Given the description of an element on the screen output the (x, y) to click on. 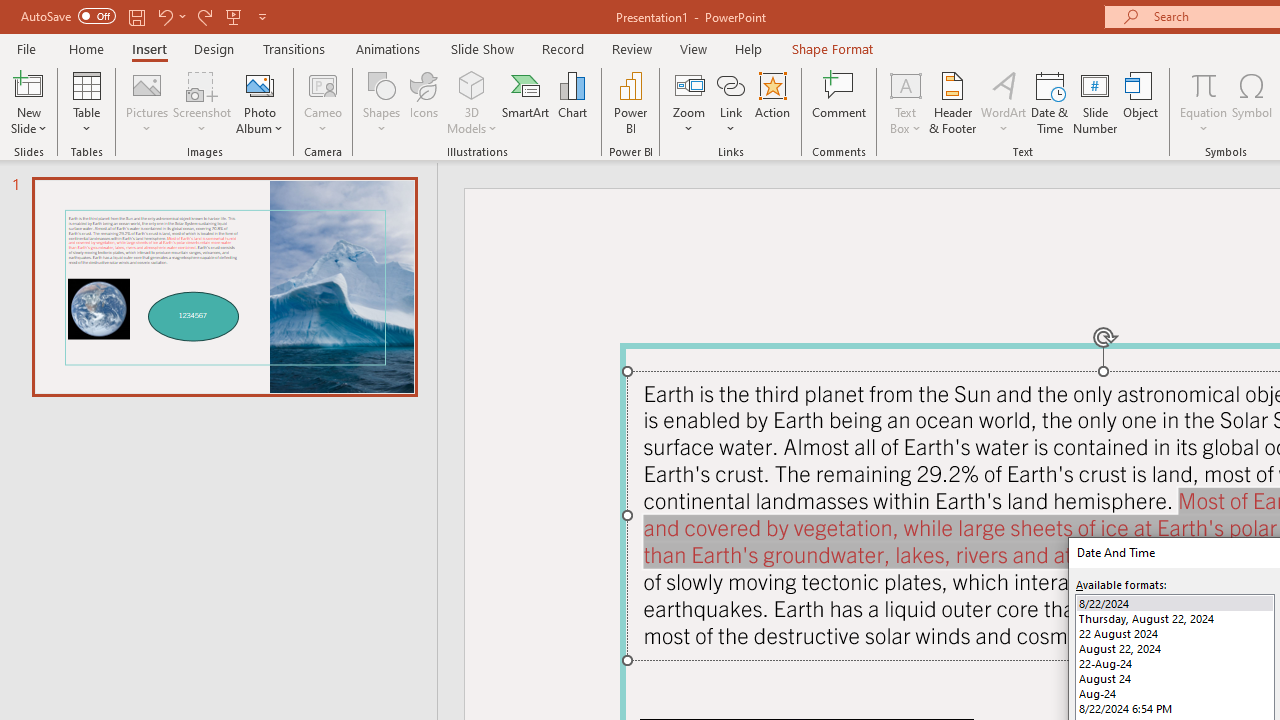
Equation (1203, 102)
3D Models (472, 84)
Comment (839, 102)
Link (731, 84)
Draw Horizontal Text Box (905, 84)
8/22/2024 (1174, 603)
Slide Number (1095, 102)
Header & Footer... (952, 102)
